Given the description of an element on the screen output the (x, y) to click on. 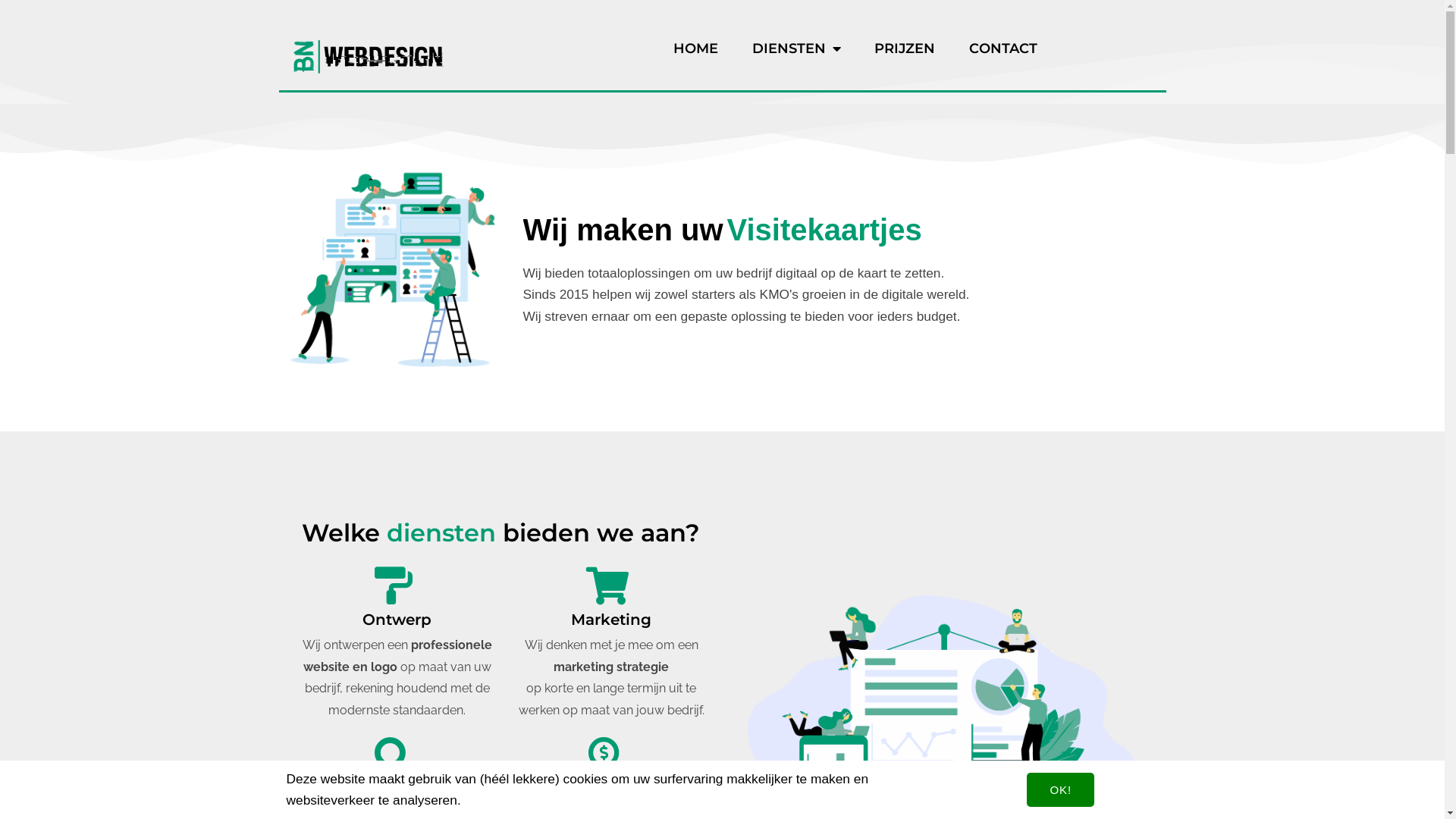
OK! Element type: text (1060, 789)
DIENSTEN Element type: text (796, 48)
BN Webdesign Element type: hover (397, 267)
BN Webdesign logo Element type: hover (367, 56)
HOME Element type: text (695, 48)
PRIJZEN Element type: text (904, 48)
CONTACT Element type: text (1002, 48)
